Given the description of an element on the screen output the (x, y) to click on. 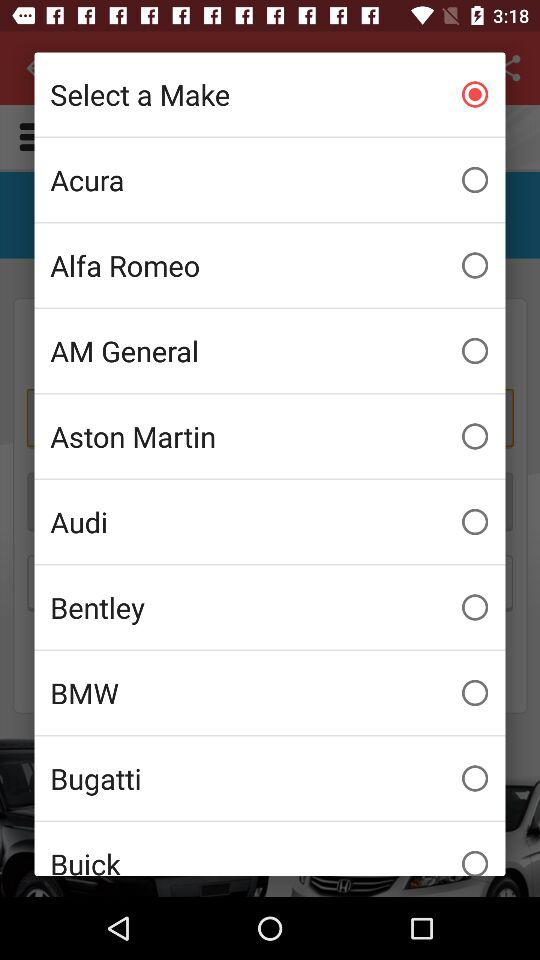
swipe to the am general item (269, 351)
